Given the description of an element on the screen output the (x, y) to click on. 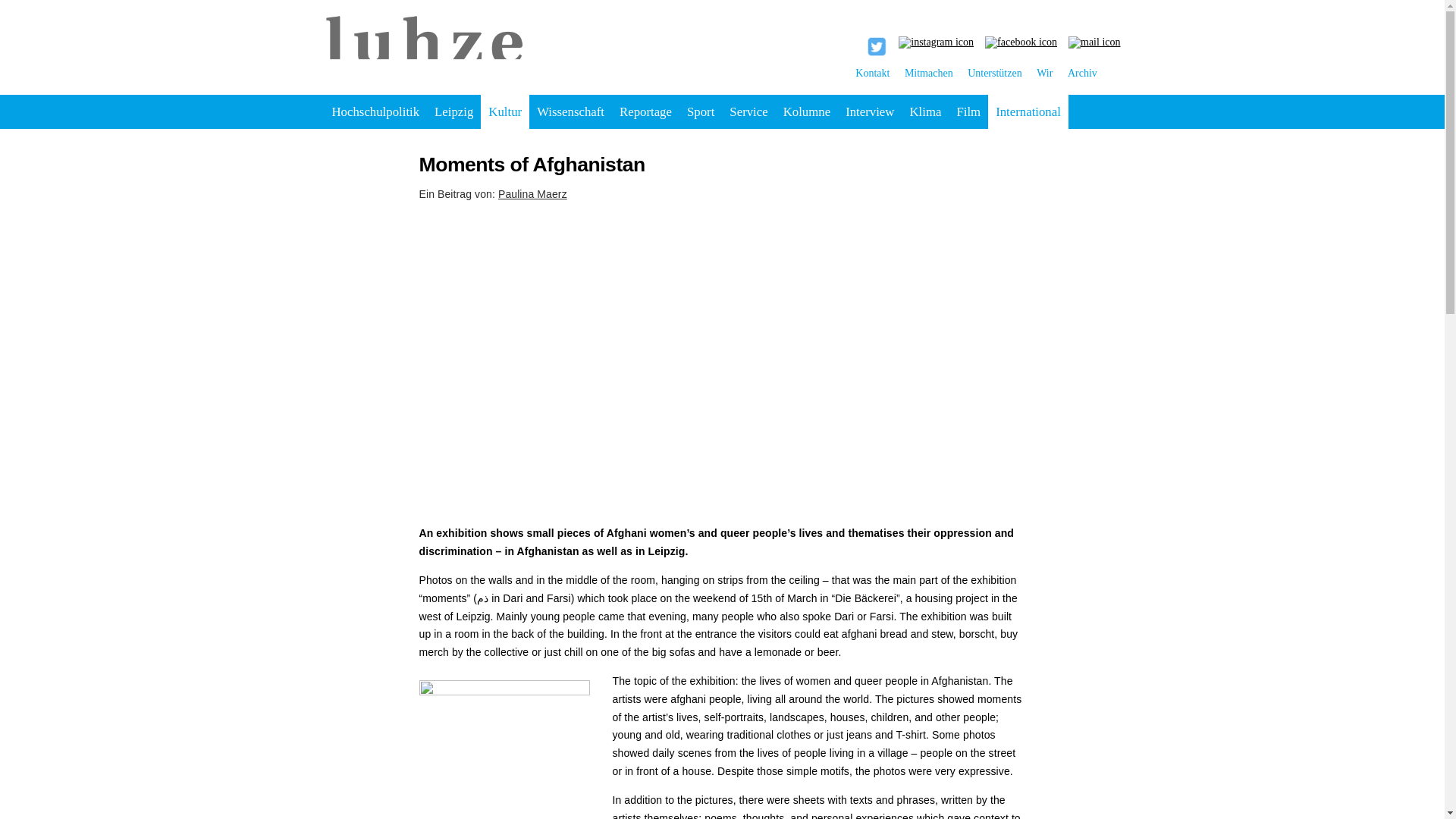
Leipzig (453, 111)
Wissenschaft (570, 111)
Kolumne (807, 111)
Mitmachen (928, 72)
Kultur (504, 111)
International (1028, 111)
Reportage (645, 111)
Klima (925, 111)
Service (748, 111)
Interview (869, 111)
Kontakt (872, 72)
Archiv (1082, 72)
Wir (1044, 72)
Hochschulpolitik (376, 111)
Paulina Maerz (532, 193)
